Given the description of an element on the screen output the (x, y) to click on. 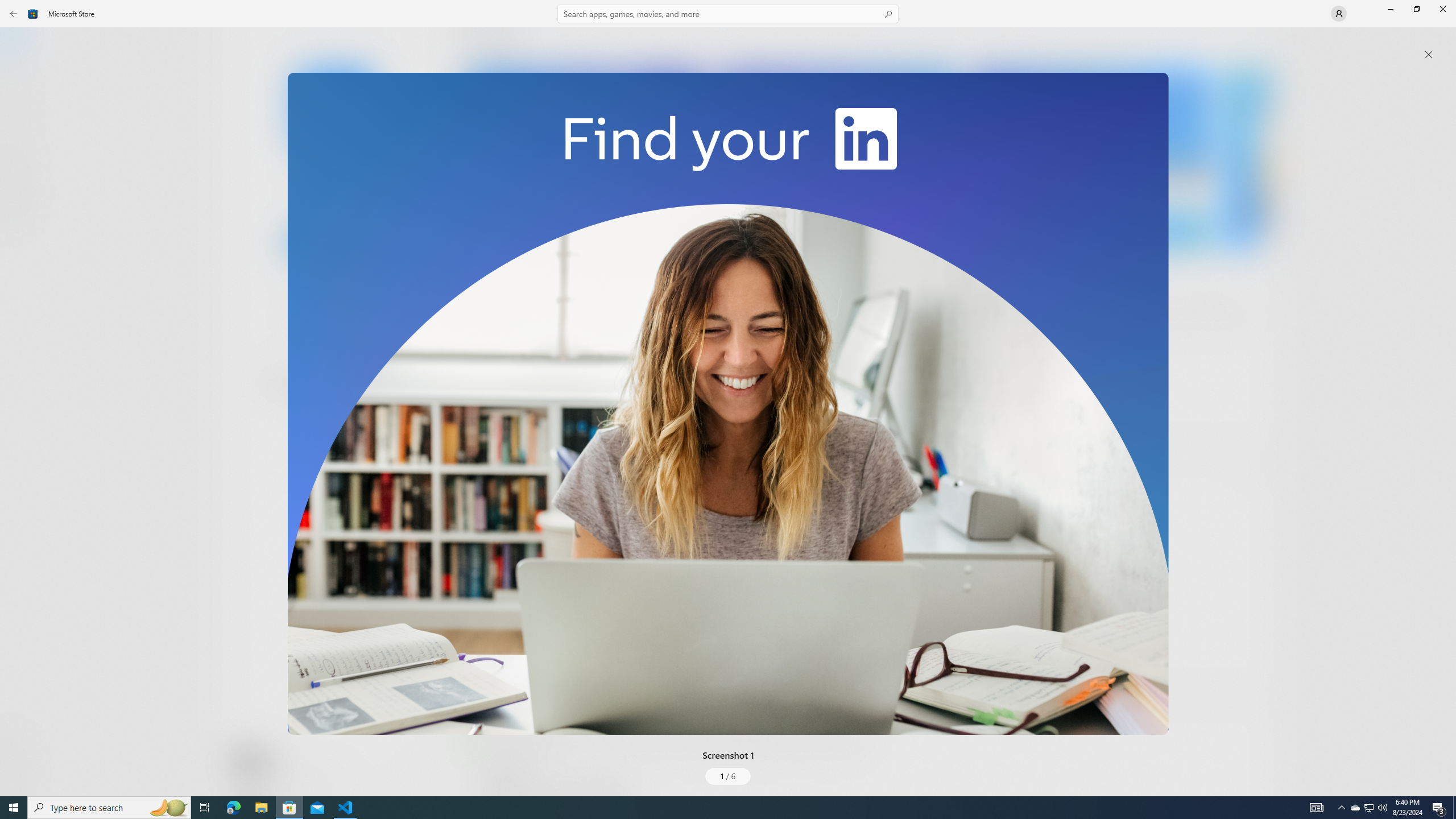
Age rating: TEEN. Click for more information. (276, 762)
Show all ratings and reviews (477, 667)
Screenshot 1 (727, 403)
Search (727, 13)
Get (334, 241)
Show all ratings and reviews (1253, 465)
Screenshot 3 (1089, 158)
Show more (485, 426)
